Given the description of an element on the screen output the (x, y) to click on. 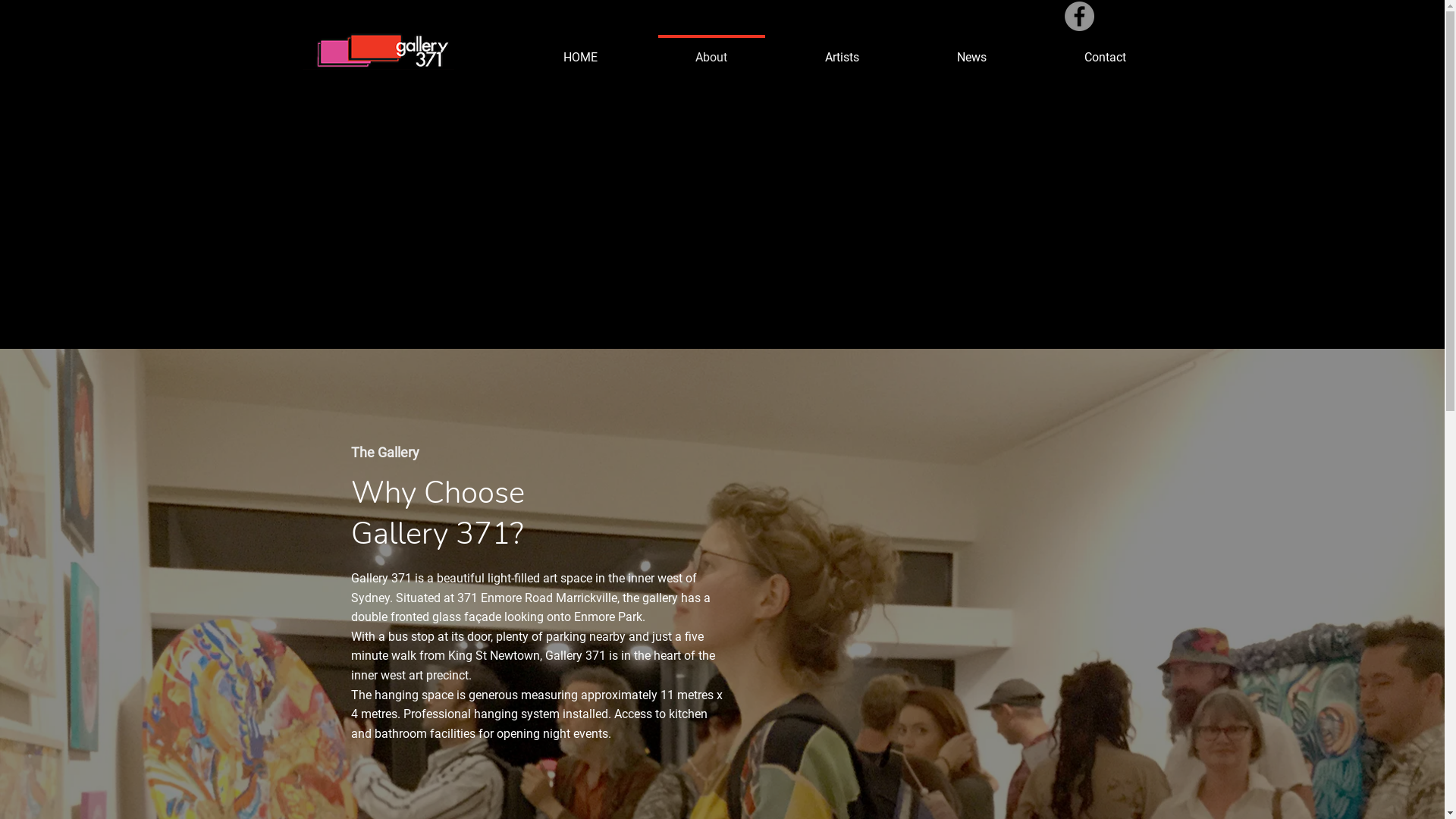
Artists Element type: text (842, 49)
Contact Element type: text (1104, 49)
About Element type: text (710, 49)
HOME Element type: text (580, 49)
News Element type: text (971, 49)
